Given the description of an element on the screen output the (x, y) to click on. 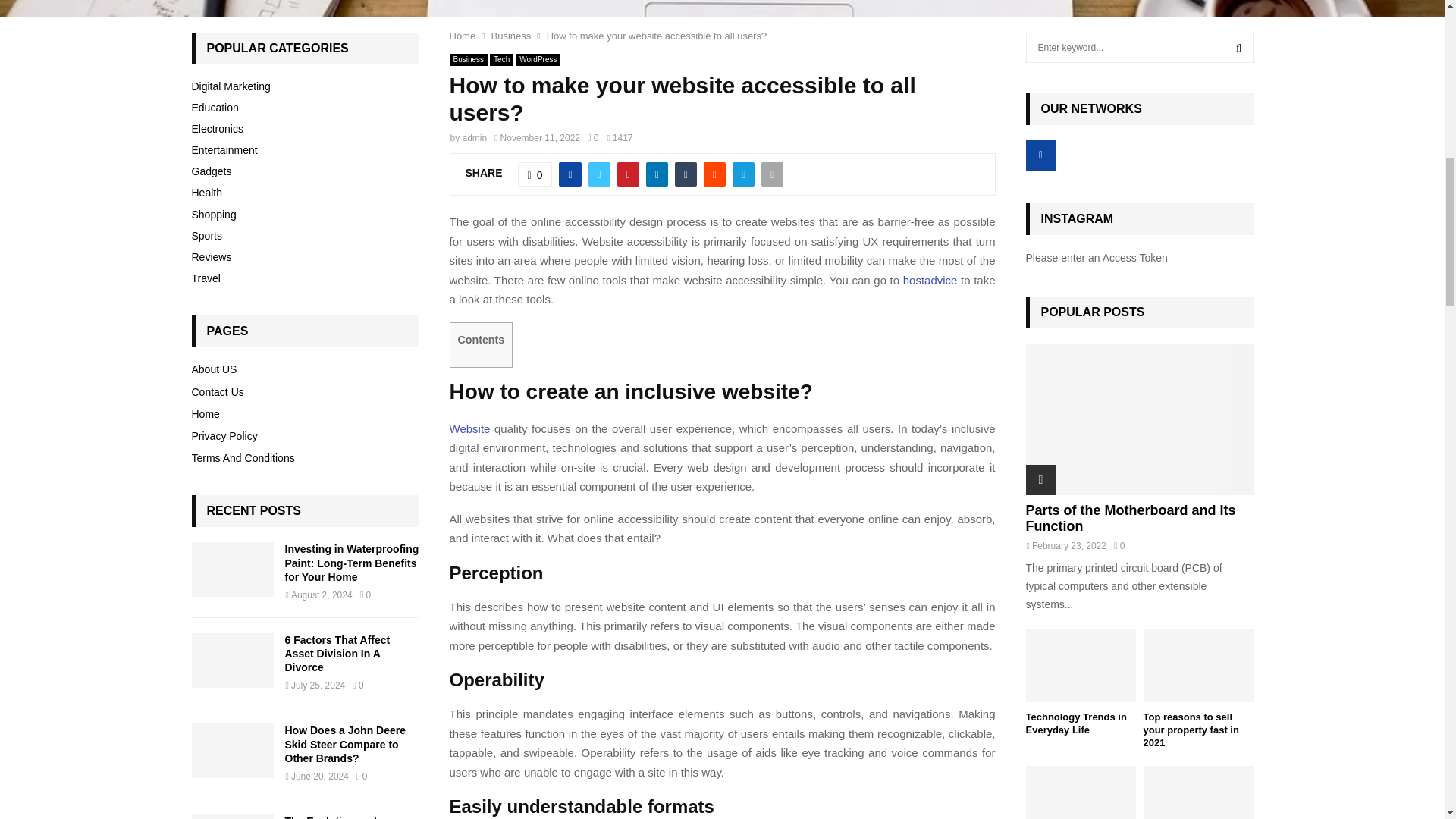
WordPress (537, 59)
How to make your website accessible to all users? (657, 35)
Business (467, 59)
Like (535, 174)
0 (593, 136)
Home (462, 35)
Tech (501, 59)
admin (475, 136)
0 (535, 174)
Business (511, 35)
